Given the description of an element on the screen output the (x, y) to click on. 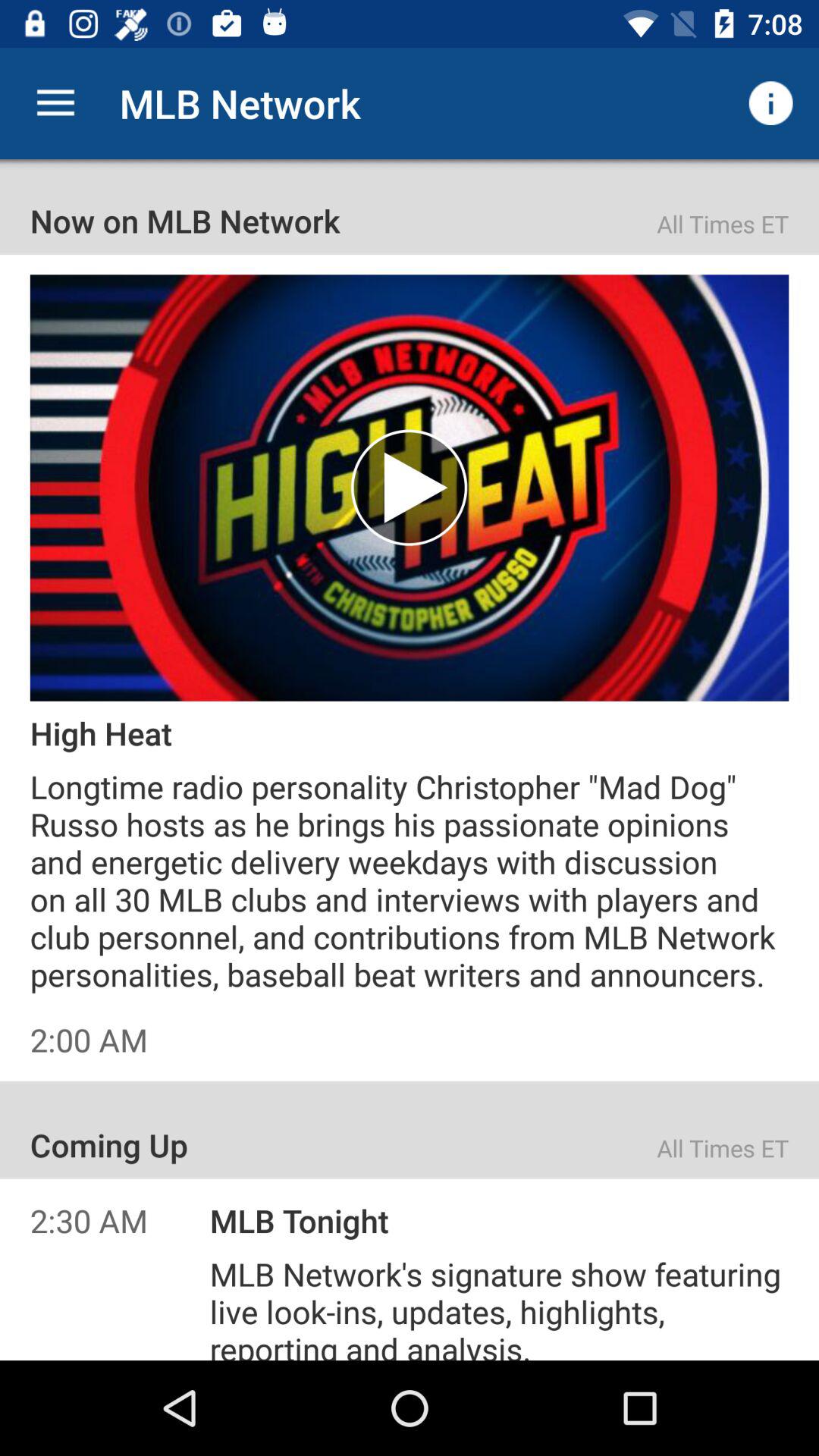
turn on icon next to the mlb network icon (771, 103)
